Given the description of an element on the screen output the (x, y) to click on. 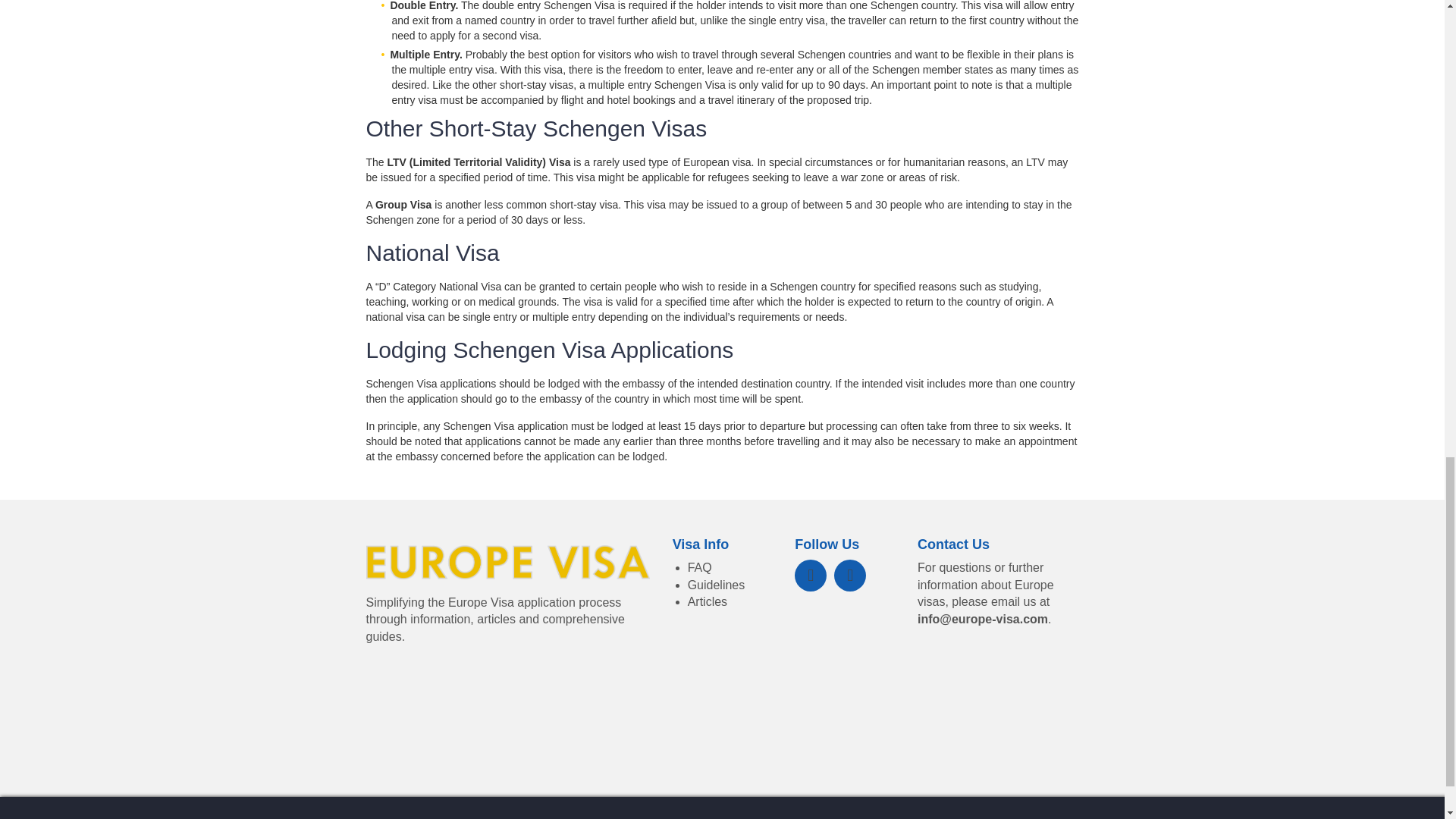
Guidelines (716, 584)
X formerly Twitter (850, 575)
Articles (706, 601)
FAQ (699, 567)
Facebook (810, 575)
